Given the description of an element on the screen output the (x, y) to click on. 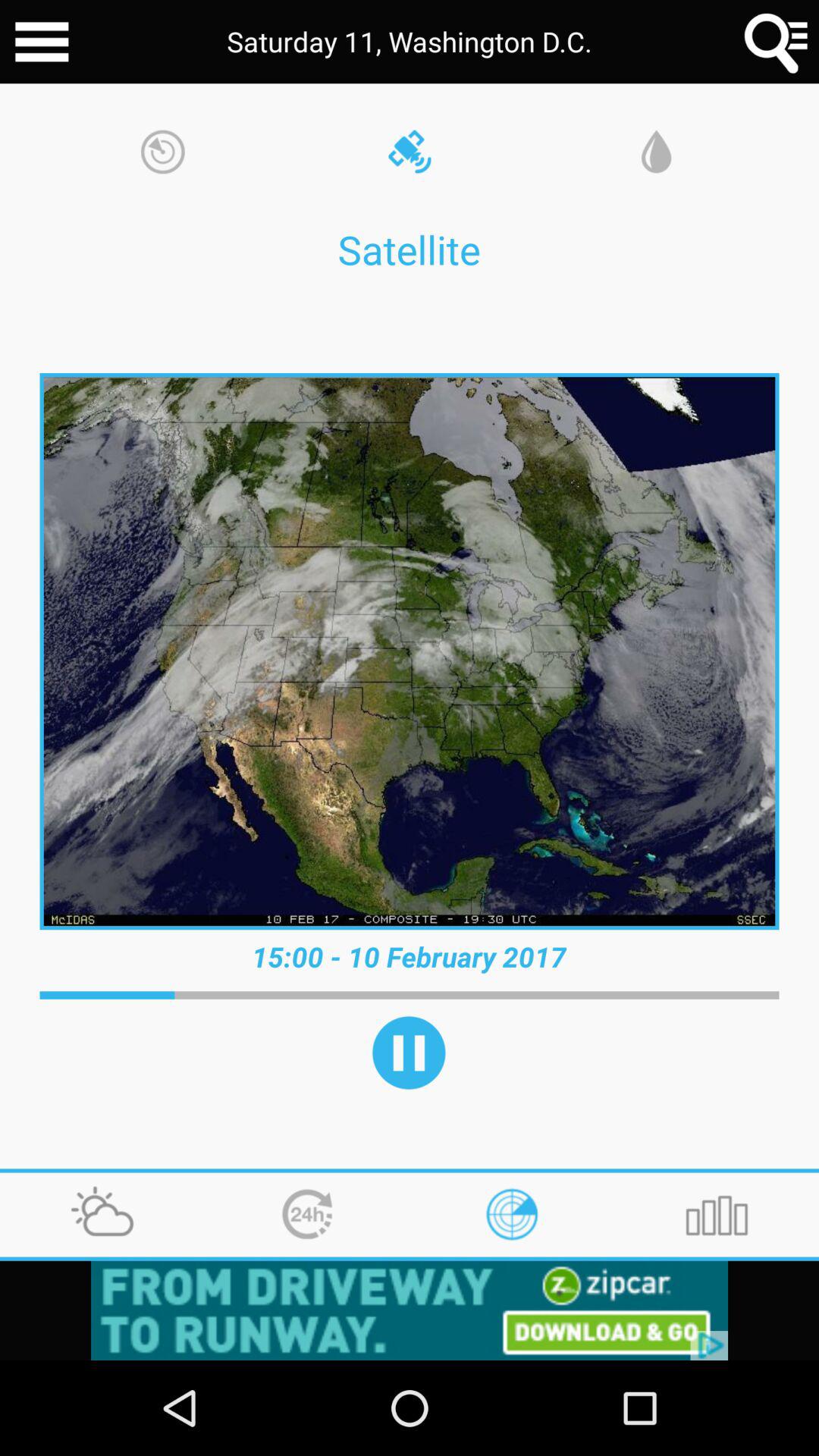
go to play option (409, 1052)
